Given the description of an element on the screen output the (x, y) to click on. 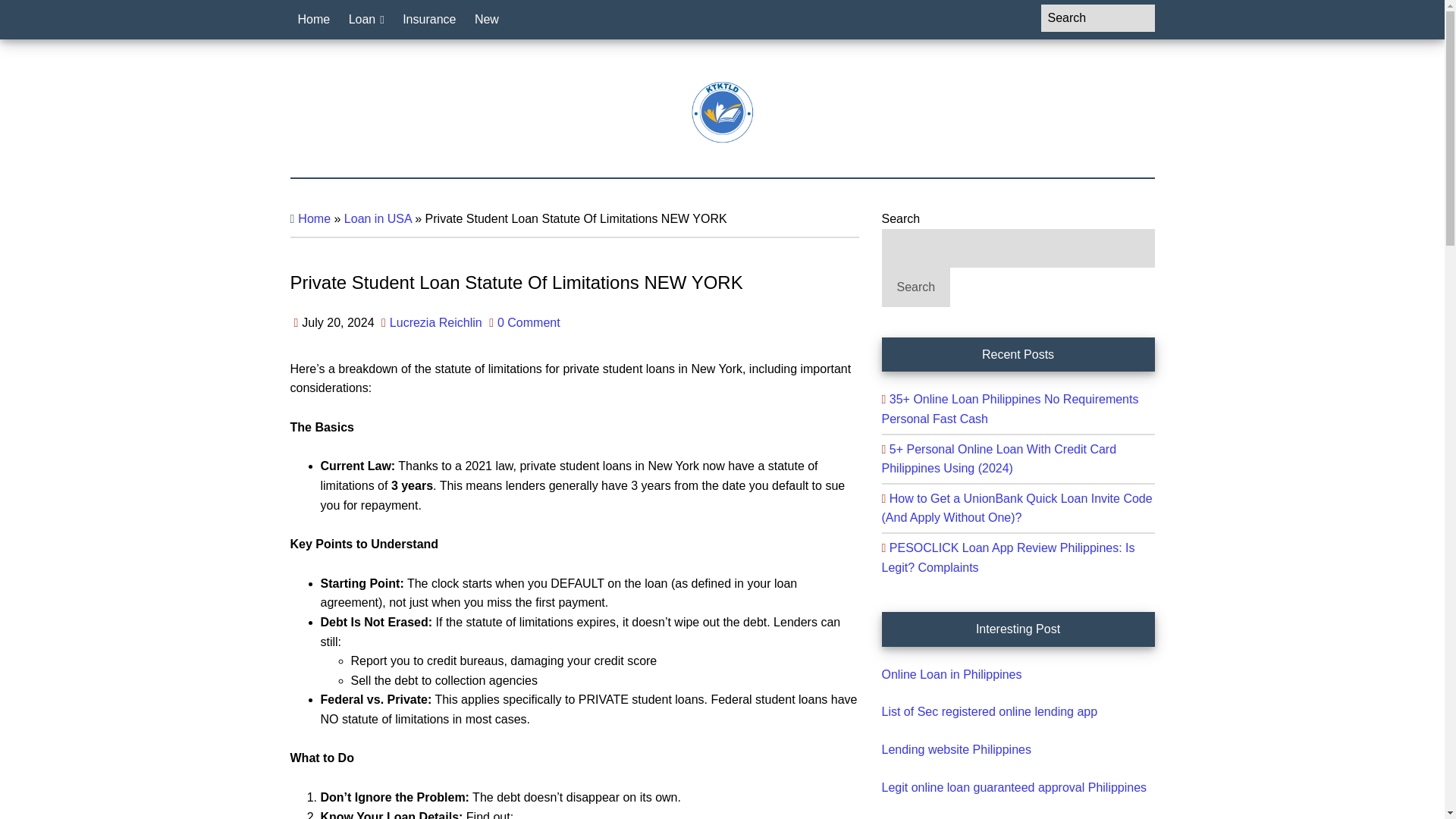
Lending website Philippines (955, 748)
Loan (365, 19)
Online Loan in Philippines (951, 674)
PESOCLICK Loan App Review Philippines: Is Legit? Complaints (1007, 557)
Home (313, 19)
Loan in USA (377, 218)
Legit online loan guaranteed approval Philippines (1013, 787)
Lucrezia Reichlin (435, 322)
List of Sec registered online lending app (988, 711)
New (486, 19)
Ktktld (721, 112)
Search (915, 287)
Home (314, 218)
Insurance (428, 19)
